Given the description of an element on the screen output the (x, y) to click on. 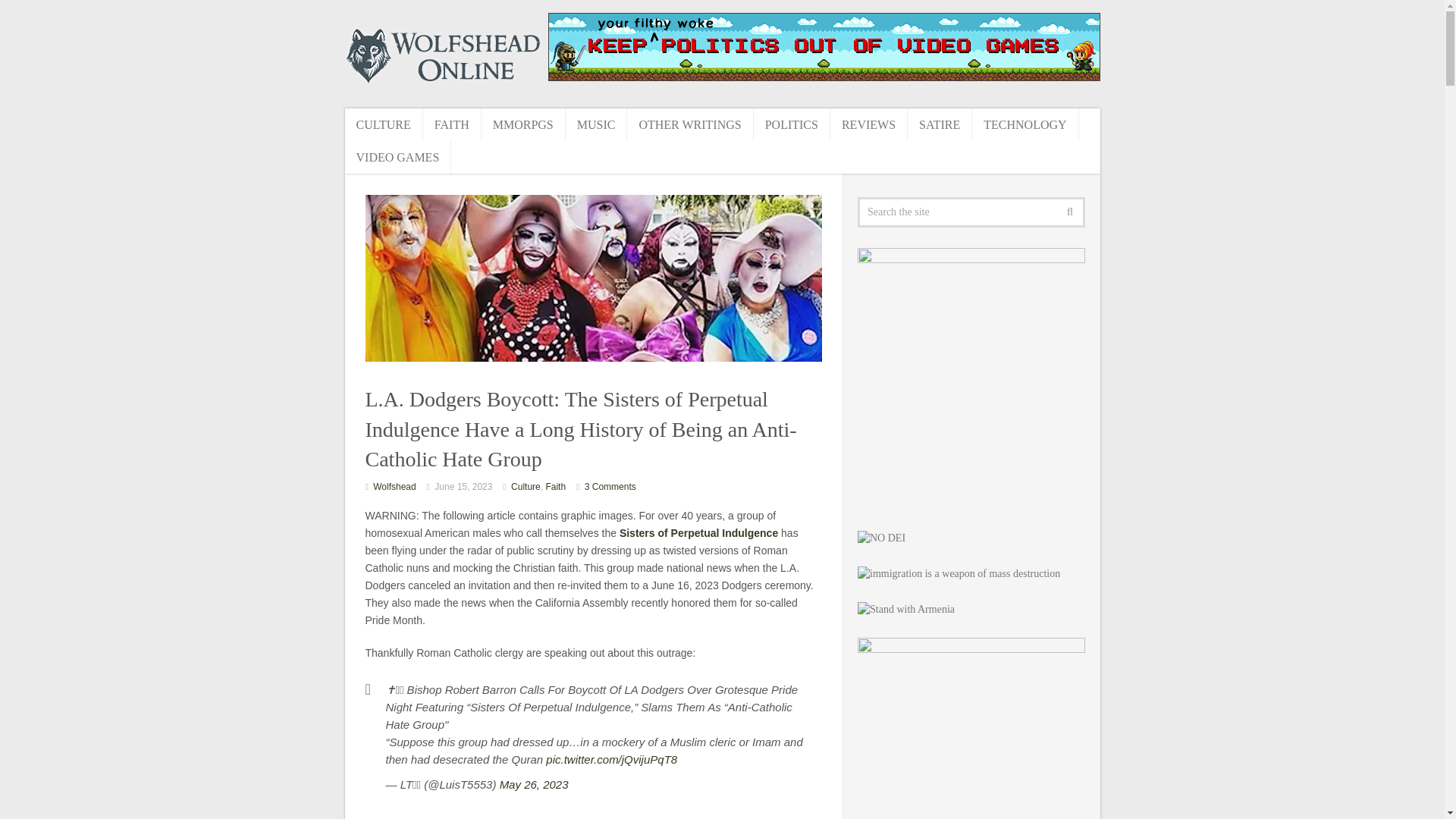
MUSIC (596, 124)
REVIEWS (868, 124)
TECHNOLOGY (1025, 124)
Wolfshead (393, 486)
POLITICS (791, 124)
Posts by Wolfshead (393, 486)
VIDEO GAMES (397, 156)
View all posts in Culture (525, 486)
Culture (525, 486)
3 Comments (610, 486)
